Given the description of an element on the screen output the (x, y) to click on. 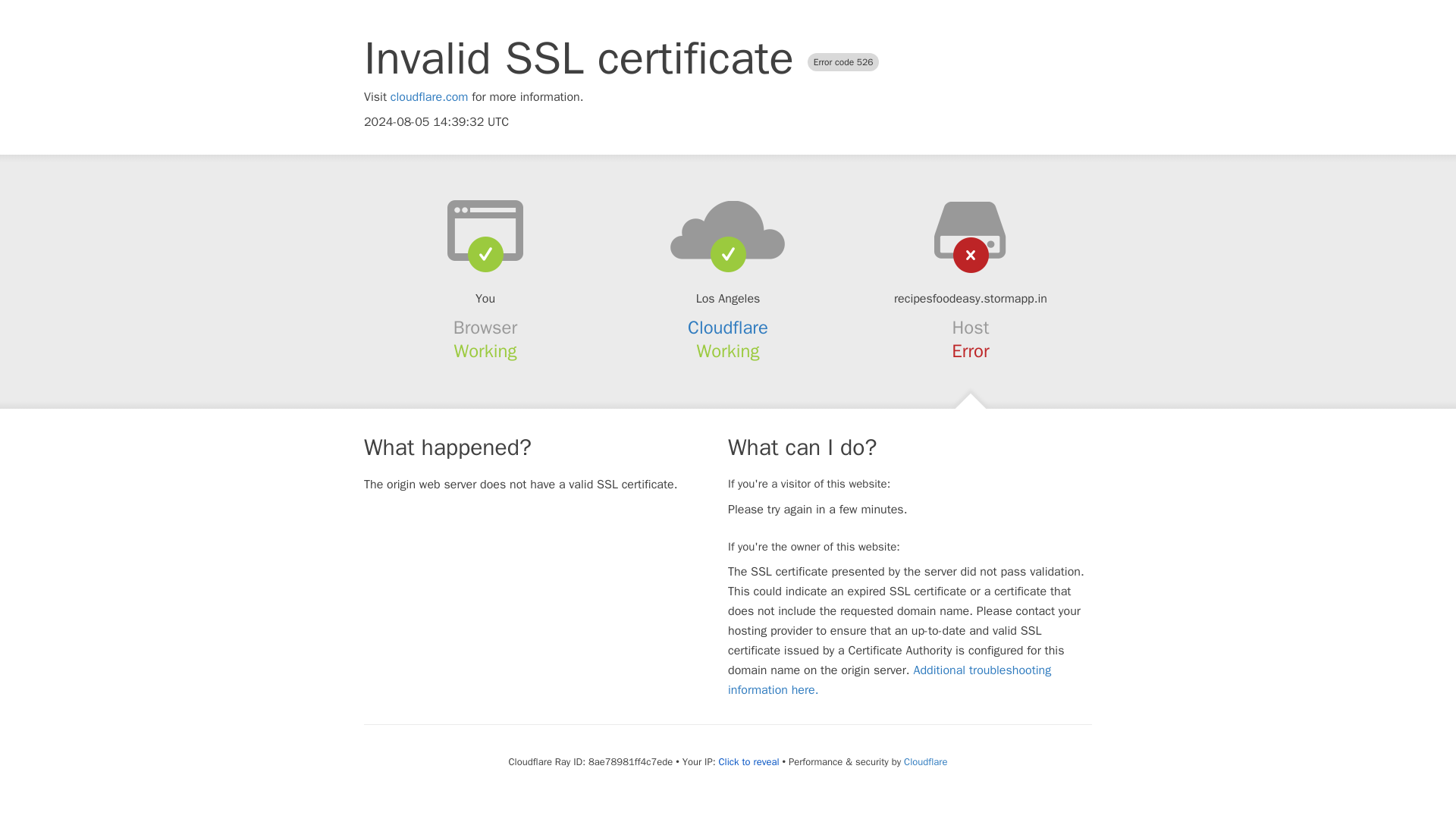
Click to reveal (748, 762)
Additional troubleshooting information here. (889, 679)
Cloudflare (727, 327)
cloudflare.com (429, 96)
Cloudflare (925, 761)
